Given the description of an element on the screen output the (x, y) to click on. 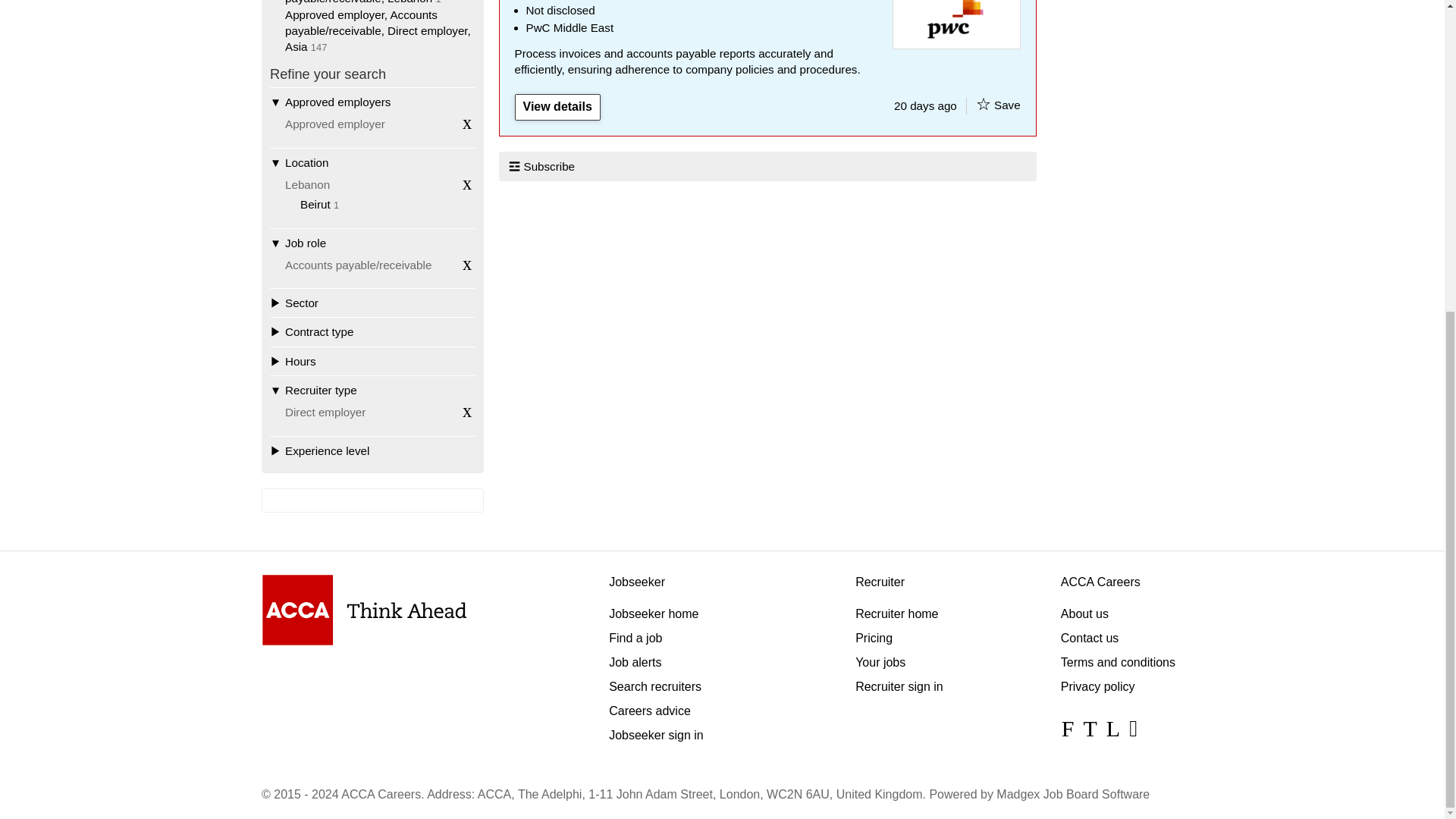
Add to shortlist (983, 103)
Remove selection (467, 183)
Beirut (314, 204)
Job role (372, 242)
Remove selection (467, 122)
Remove selection (467, 410)
Location (372, 162)
Remove selection (467, 263)
Approved employers (372, 101)
